Given the description of an element on the screen output the (x, y) to click on. 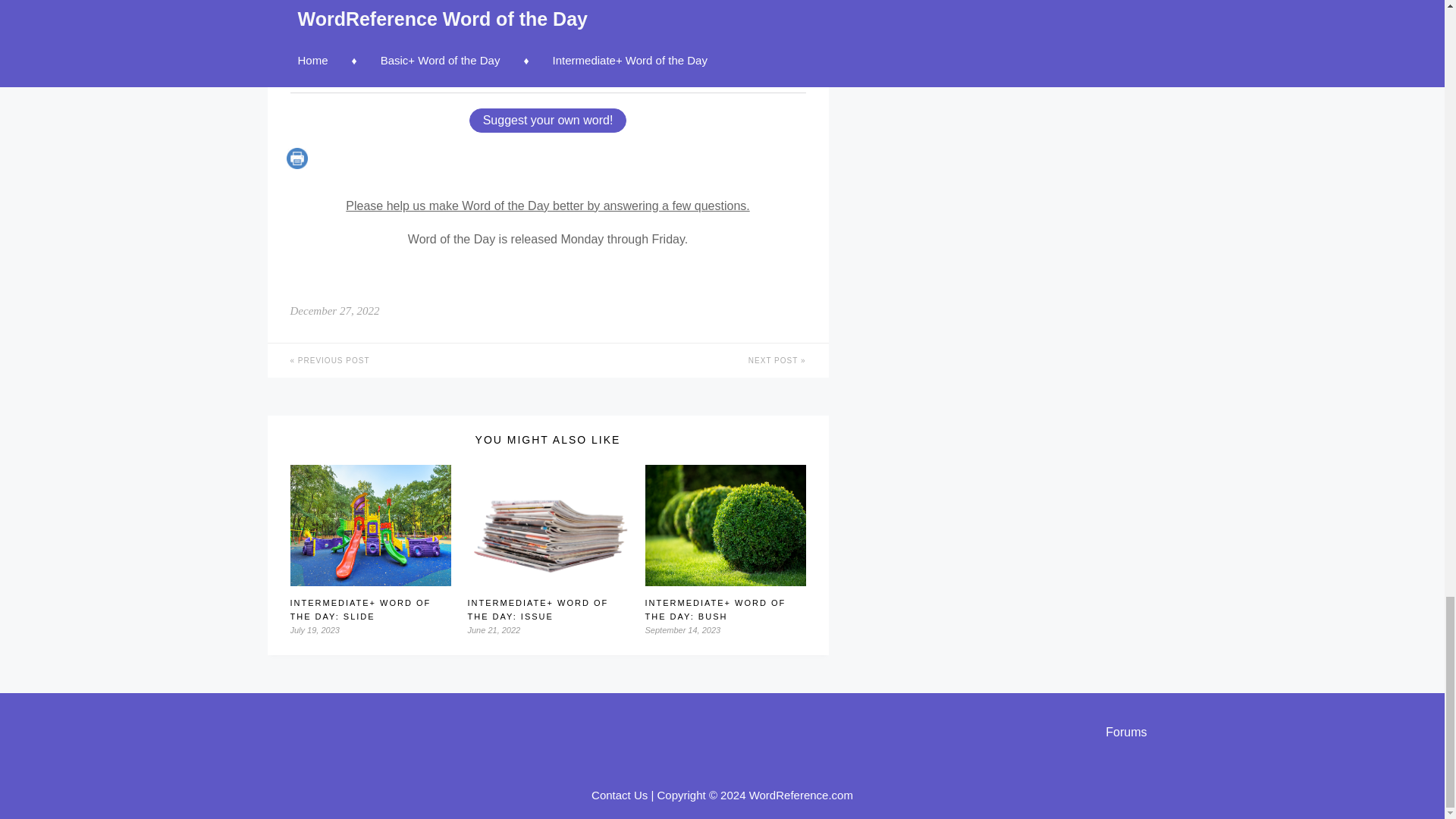
French (365, 47)
Chinese (517, 66)
Korean (632, 66)
Polish (731, 47)
Dutch (579, 47)
Czech (374, 66)
Suggest your own word! (547, 120)
Japanese (576, 66)
Greek (419, 66)
Spanish (314, 47)
Swedish (627, 47)
Arabic (678, 66)
Portuguese (467, 47)
PREVIOUS POST (406, 360)
